Given the description of an element on the screen output the (x, y) to click on. 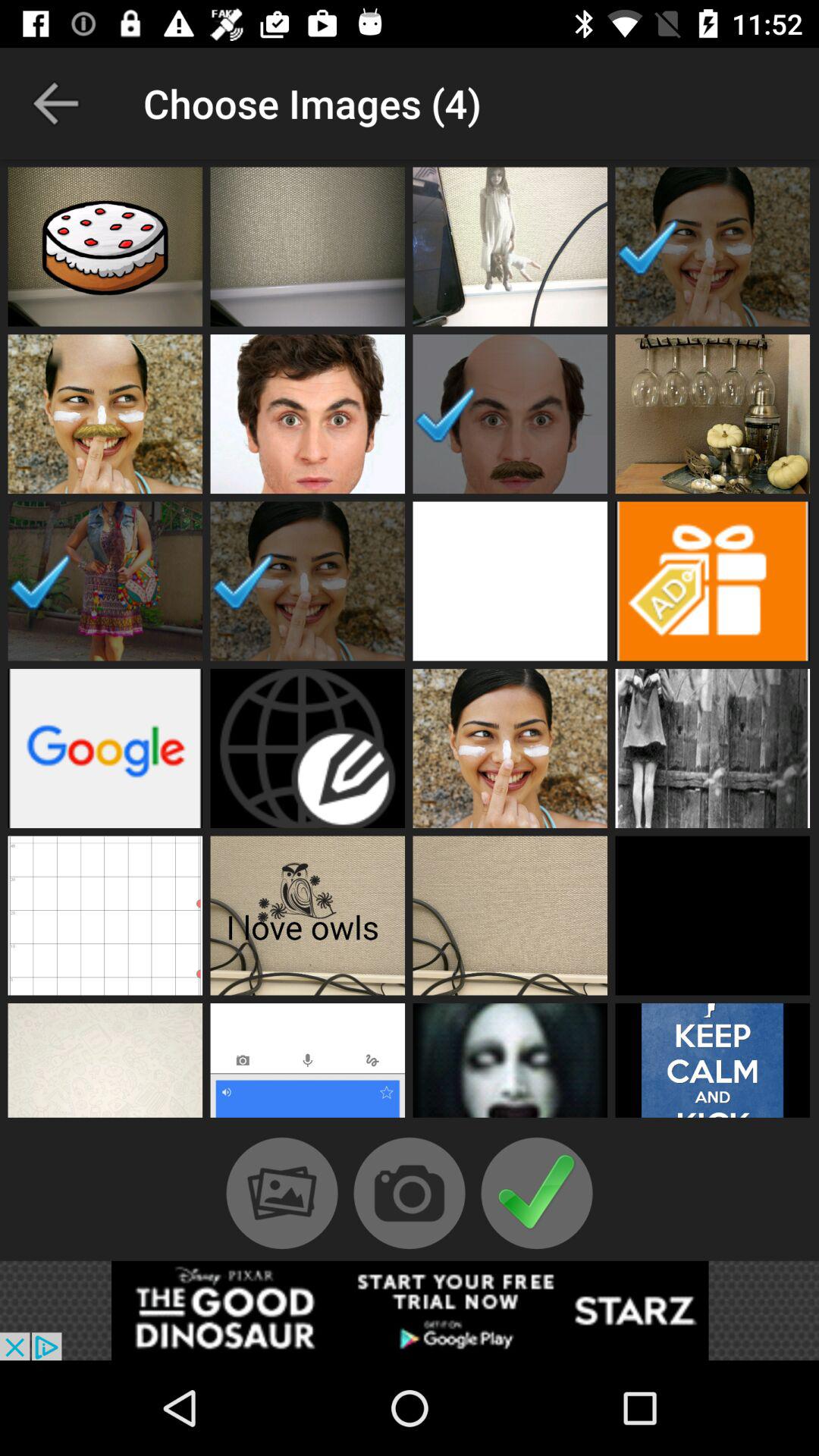
select image (509, 246)
